Given the description of an element on the screen output the (x, y) to click on. 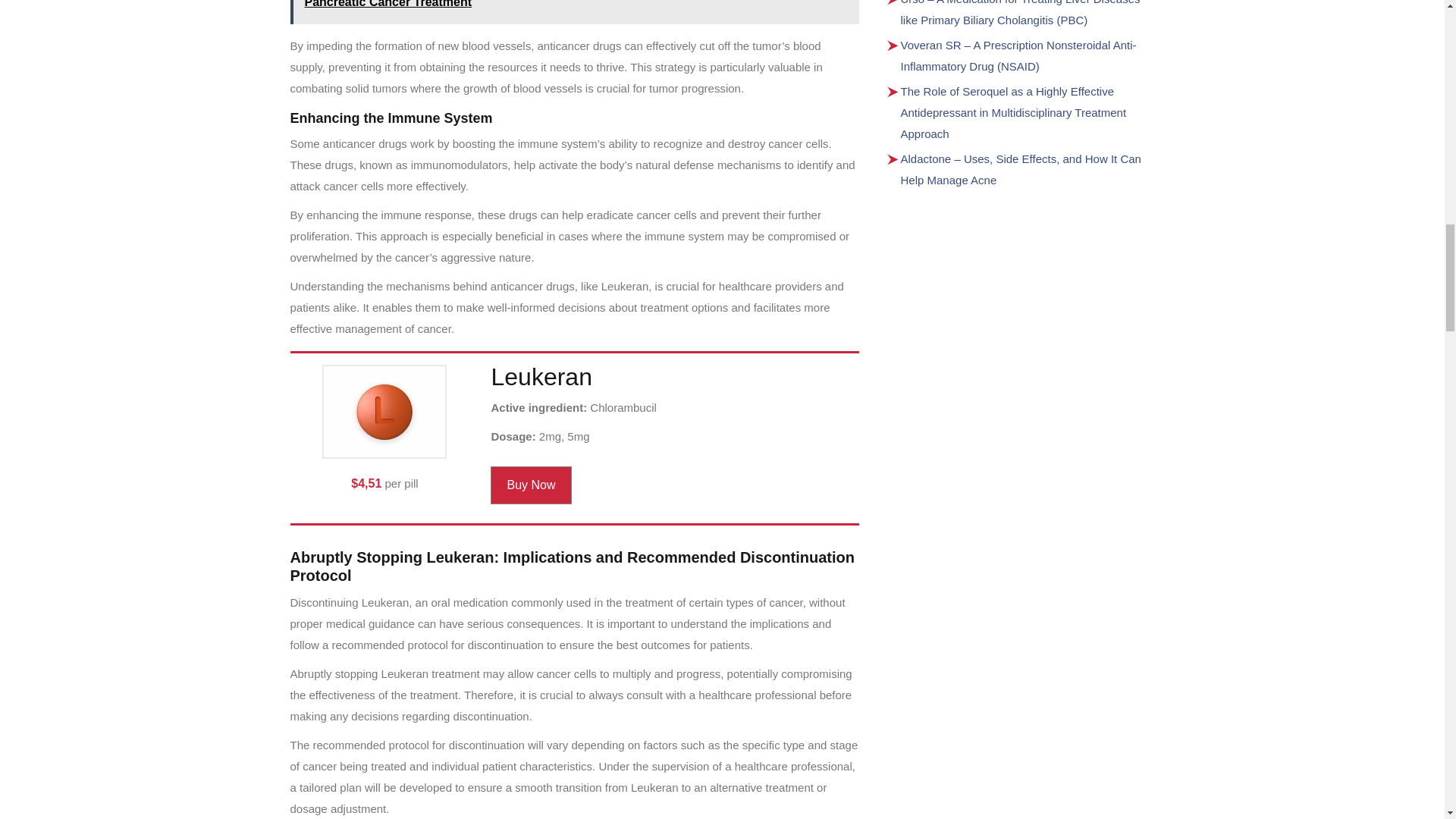
Buy Now (530, 485)
